Given the description of an element on the screen output the (x, y) to click on. 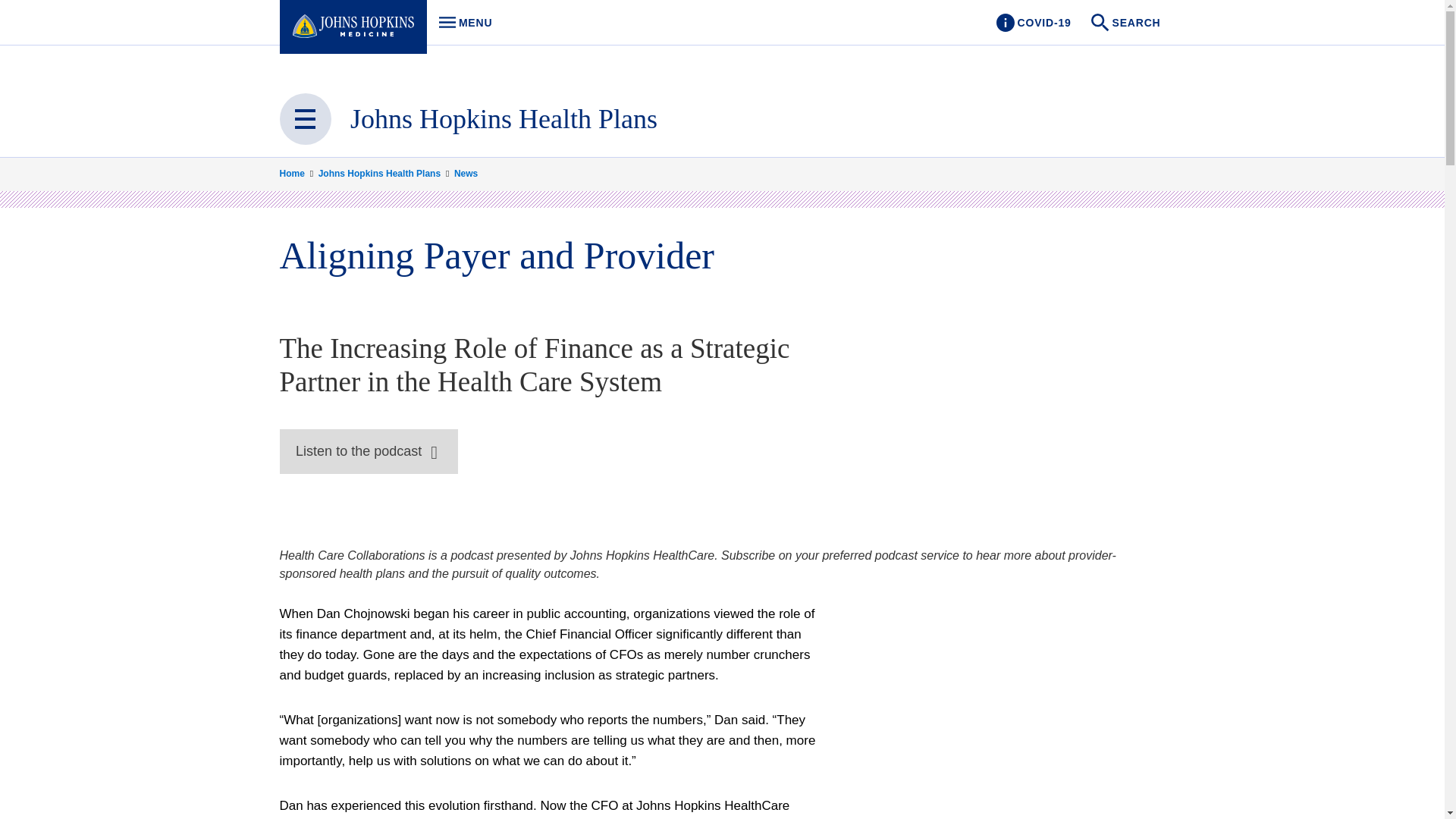
Close Main Menu (304, 118)
Johns Hopkins Health Plans (504, 119)
COVID-19 (461, 22)
SEARCH (1033, 22)
